Given the description of an element on the screen output the (x, y) to click on. 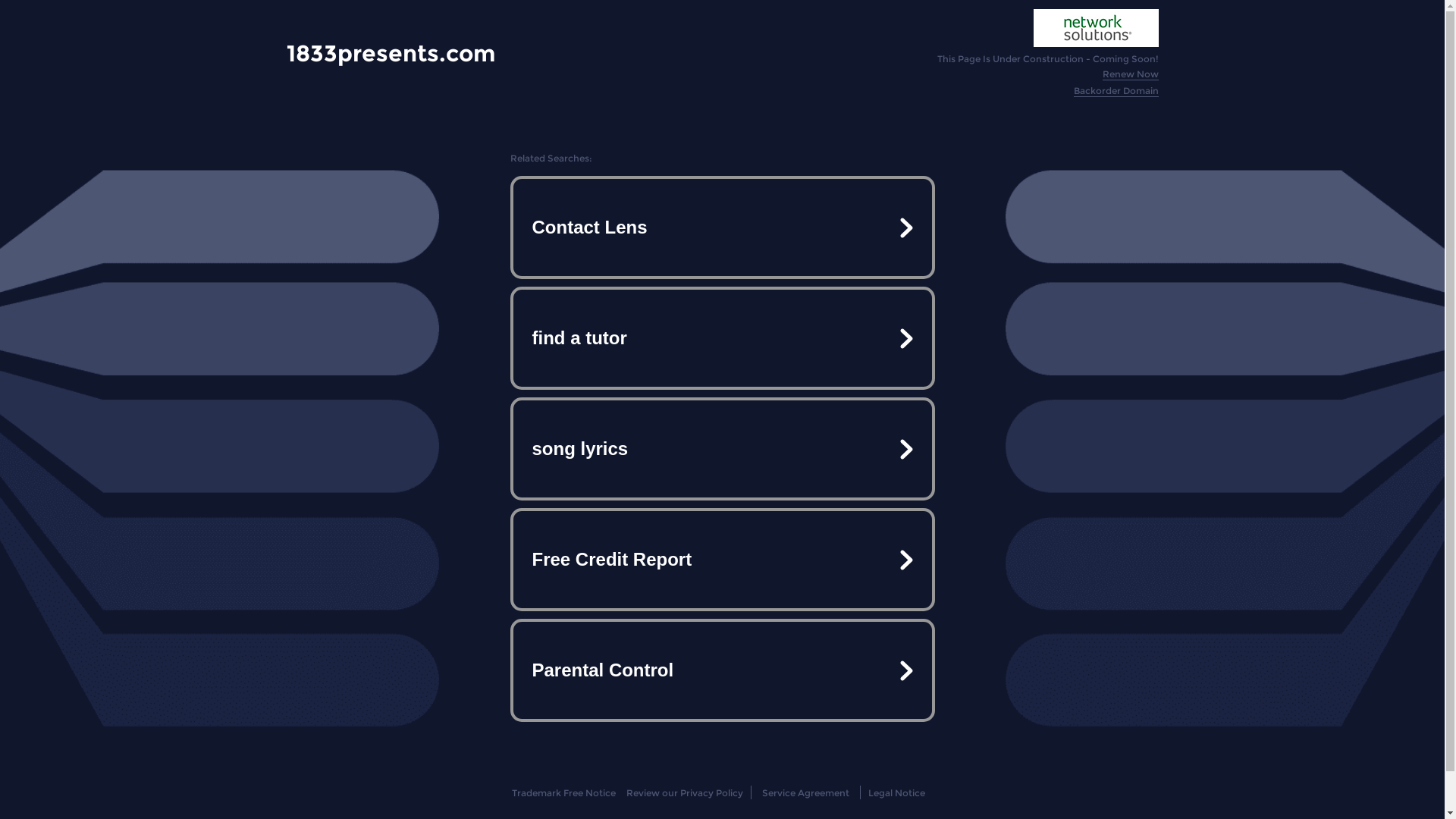
Legal Notice Element type: text (896, 792)
Review our Privacy Policy Element type: text (684, 792)
Backorder Domain Element type: text (1115, 90)
song lyrics Element type: text (721, 448)
Trademark Free Notice Element type: text (563, 792)
Service Agreement Element type: text (805, 792)
Parental Control Element type: text (721, 669)
find a tutor Element type: text (721, 337)
Free Credit Report Element type: text (721, 559)
Renew Now Element type: text (1130, 74)
1833presents.com Element type: text (390, 53)
Contact Lens Element type: text (721, 227)
